Given the description of an element on the screen output the (x, y) to click on. 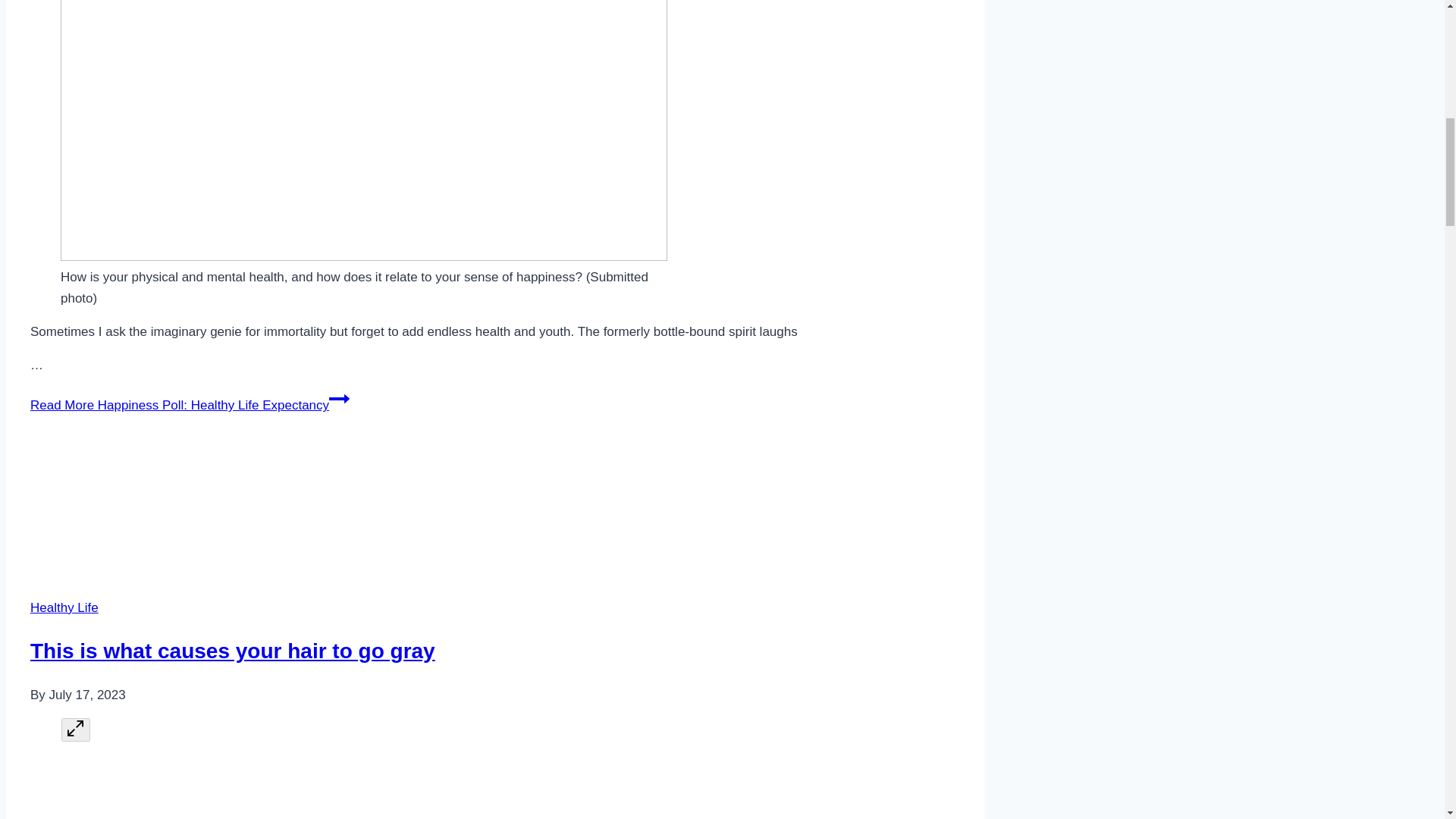
This is what causes your hair to go gray (296, 509)
This is what causes your hair to go gray (232, 650)
Read More Happiness Poll: Healthy Life ExpectancyContinue (189, 405)
Healthy Life (64, 607)
Continue (339, 398)
